Given the description of an element on the screen output the (x, y) to click on. 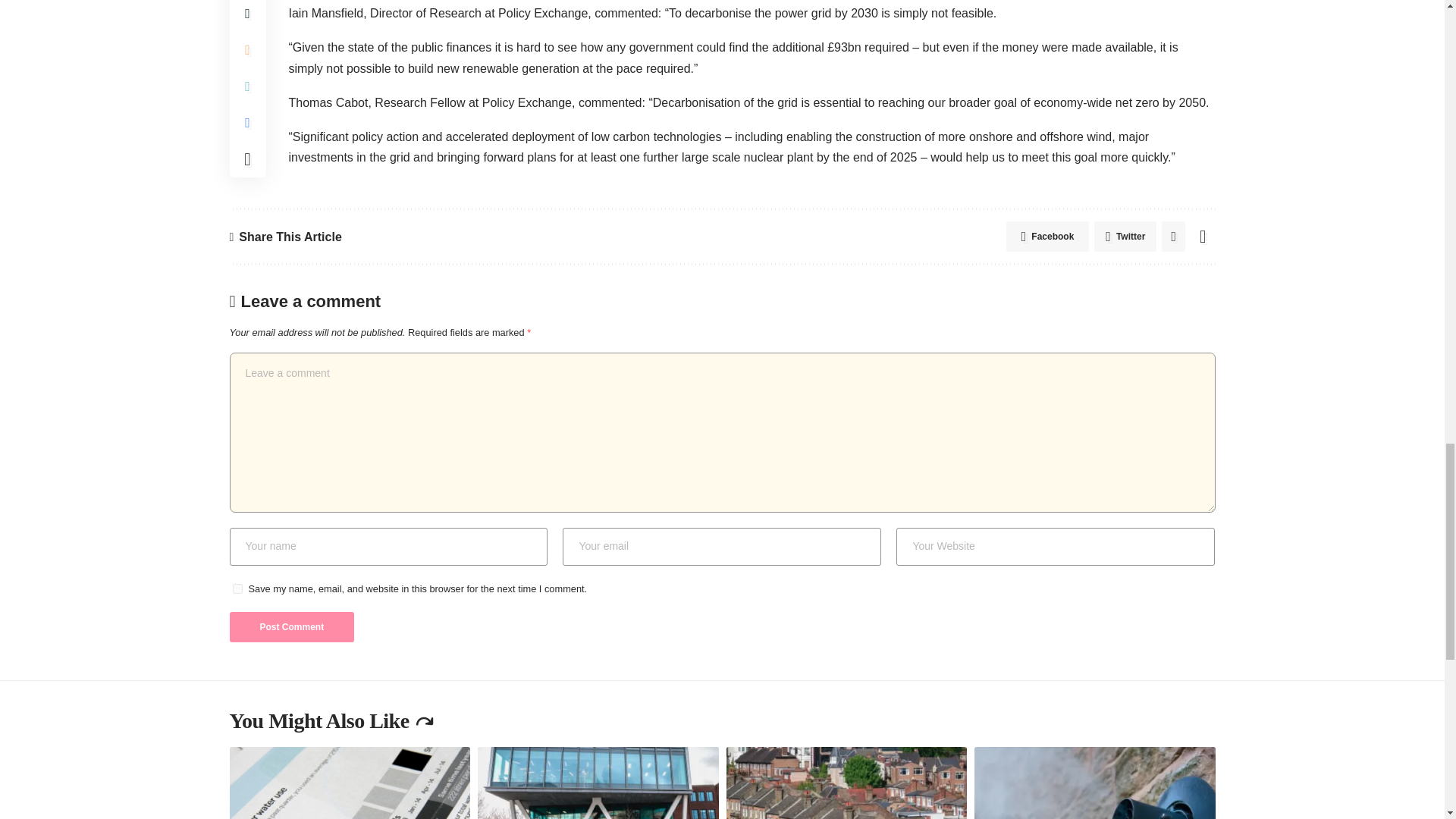
Potential increase in gas bills for UK households (1094, 782)
Rise in business customer complaints about water retailers (349, 782)
Post Comment (290, 626)
yes (236, 588)
